Given the description of an element on the screen output the (x, y) to click on. 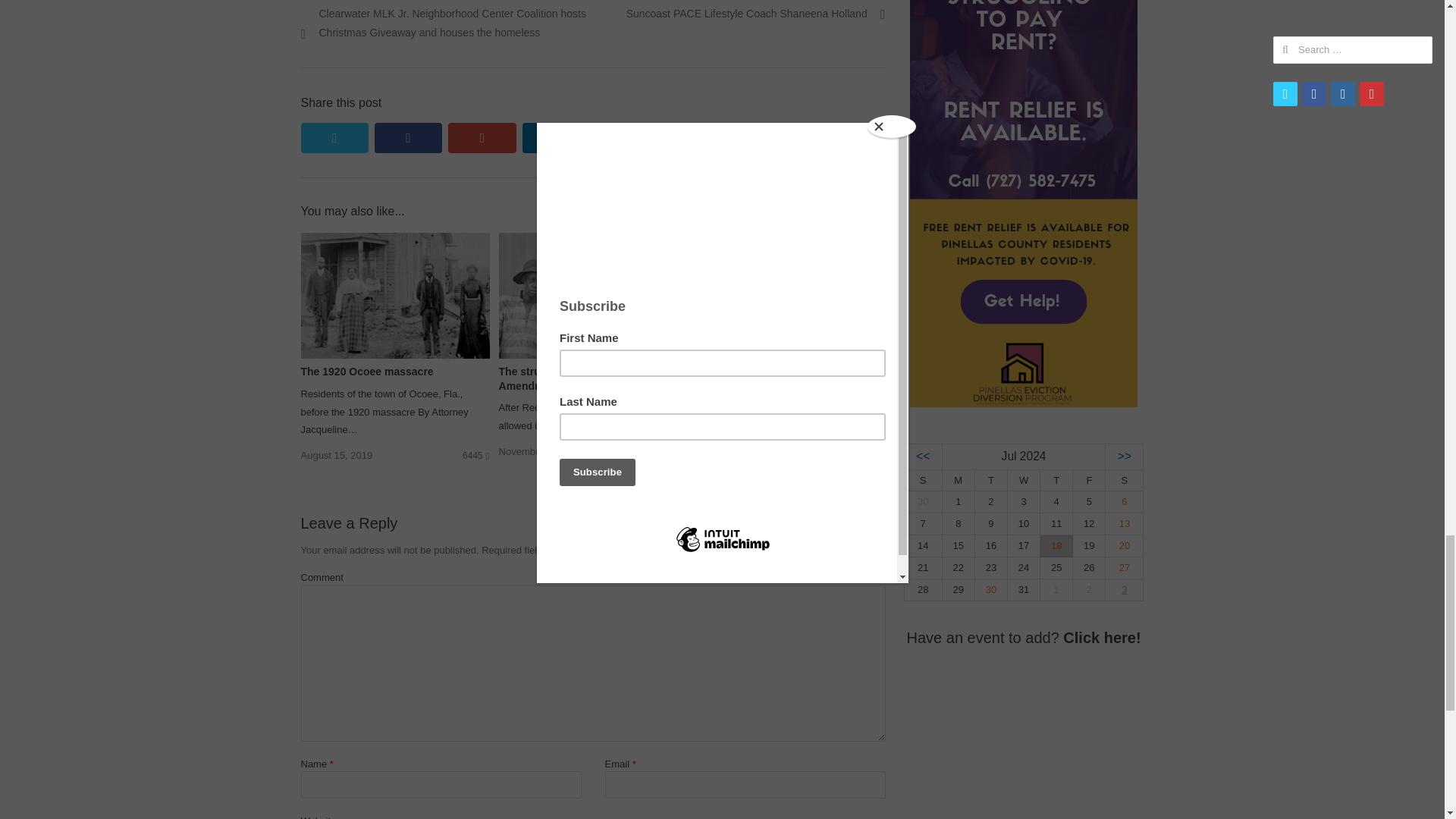
Share on LinkedIn (555, 137)
The 1920 Ocoee massacre (365, 371)
Share on twitter (333, 137)
The struggle for the Civil War Amendments (593, 241)
Print (777, 137)
Reddit (850, 137)
Share on facebook (408, 137)
The 1920 Ocoee massacre (394, 241)
Pin it (629, 137)
Email this (702, 137)
